Given the description of an element on the screen output the (x, y) to click on. 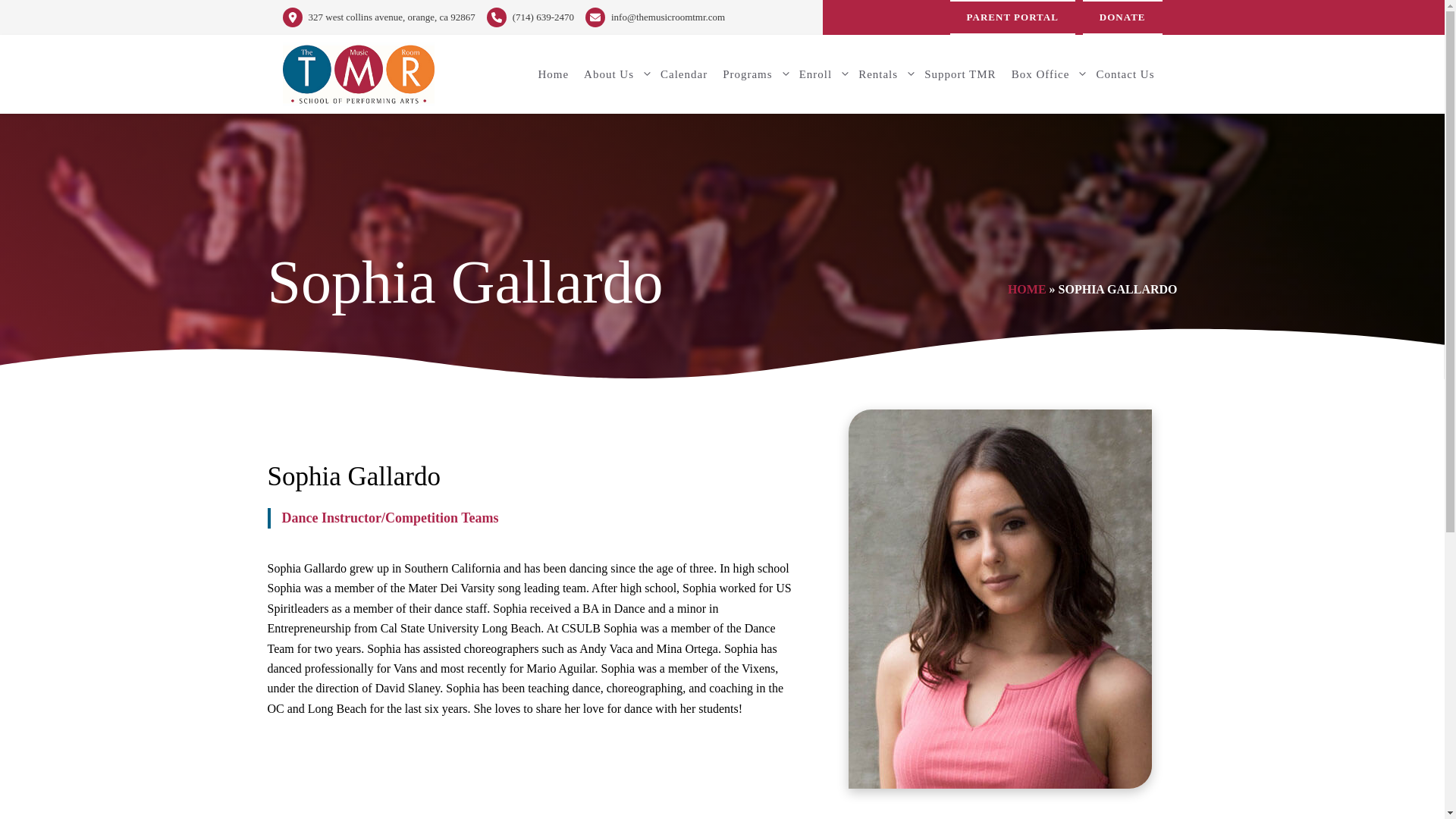
HOME (1026, 288)
Calendar (683, 74)
DONATE (1122, 17)
Enroll (821, 74)
Box Office (1046, 74)
Programs (753, 74)
About Us (614, 74)
Home (552, 74)
PARENT PORTAL (1012, 17)
Support TMR (960, 74)
